Given the description of an element on the screen output the (x, y) to click on. 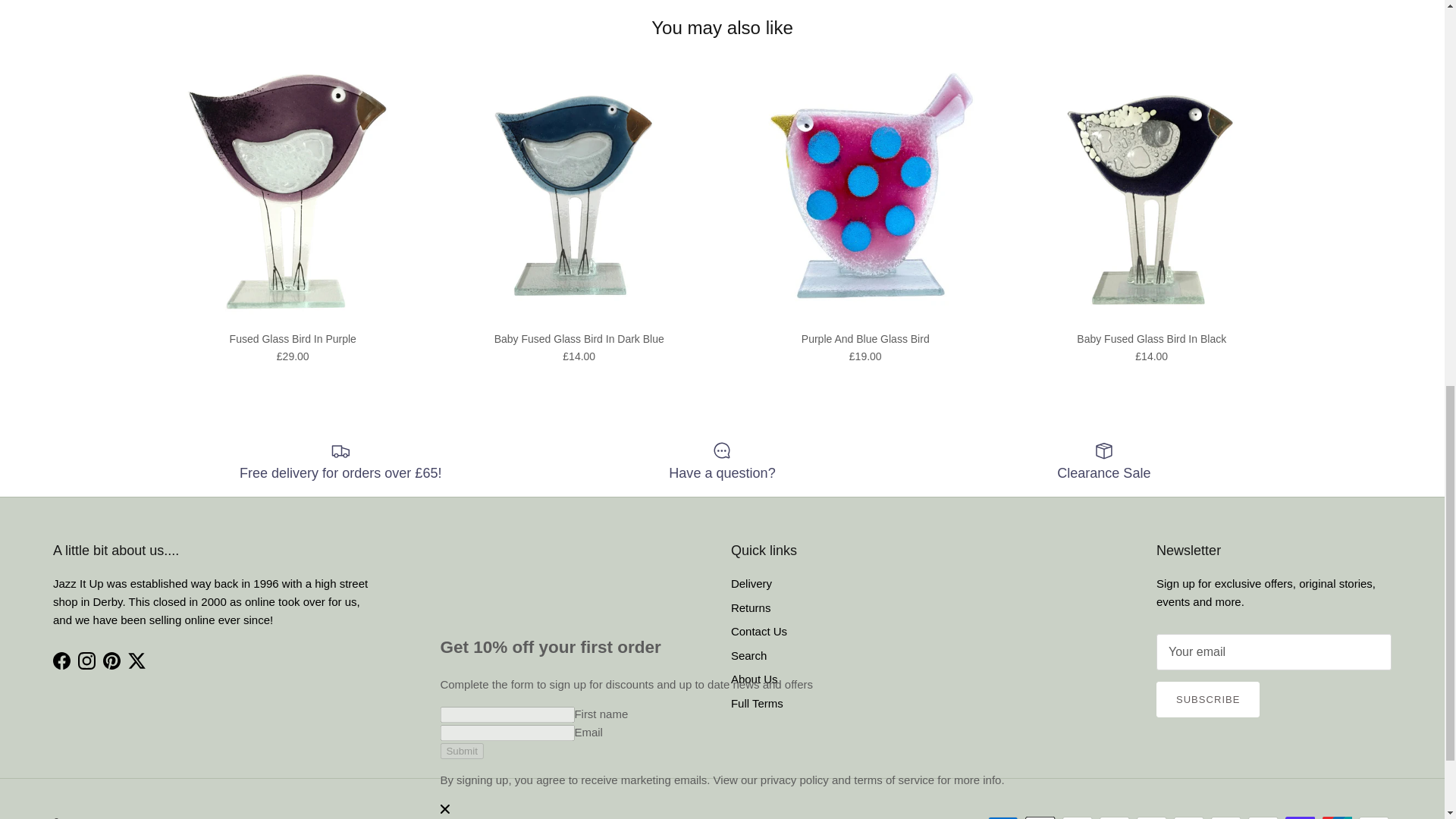
Jazz It Up Interiors on Facebook (60, 660)
Jazz It Up Interiors on Instagram (87, 660)
Apple Pay (1040, 817)
Jazz It Up Interiors on Twitter (136, 660)
Jazz It Up Interiors on Pinterest (111, 660)
American Express (1002, 817)
